Given the description of an element on the screen output the (x, y) to click on. 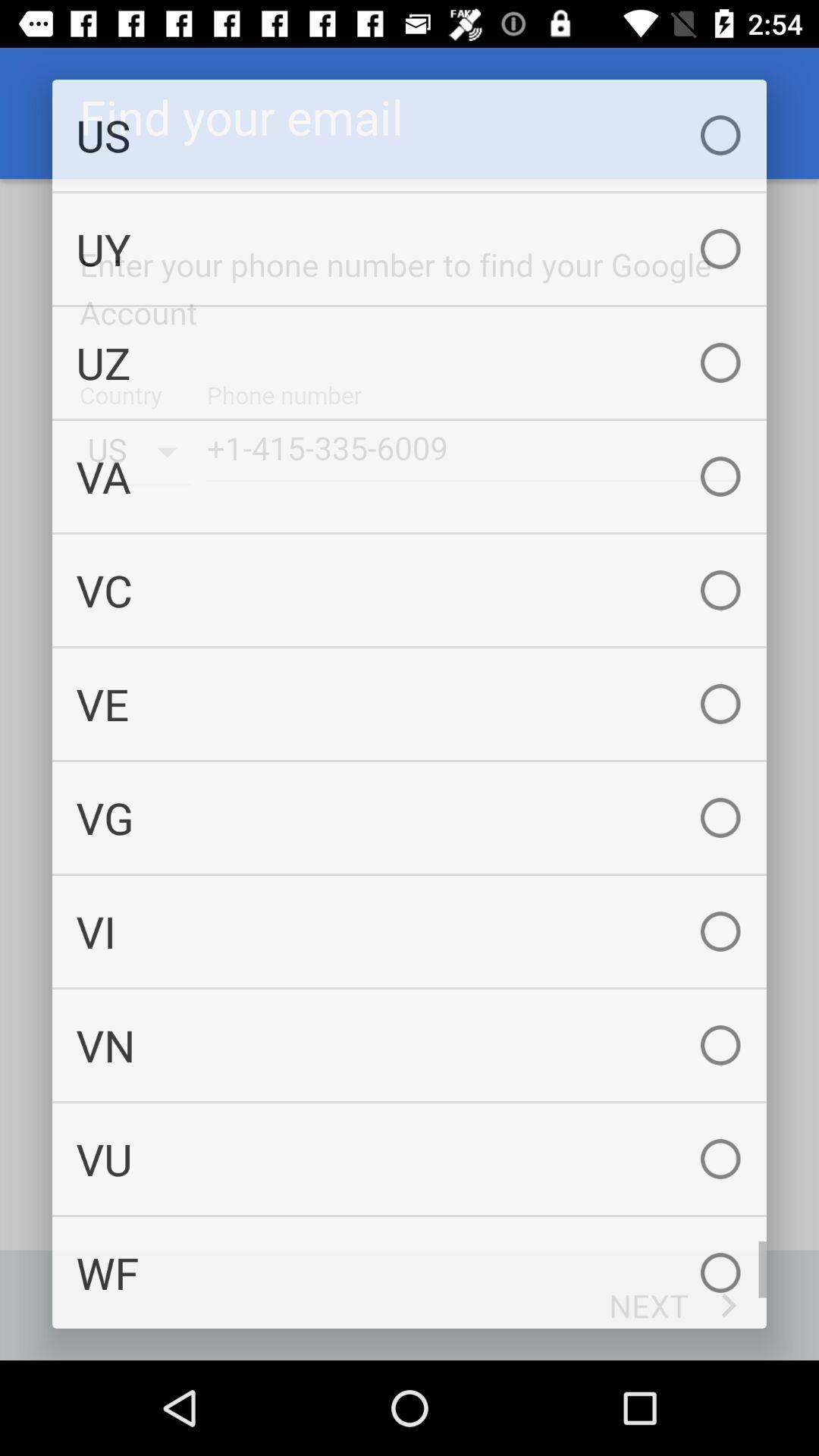
swipe to vi icon (409, 931)
